Given the description of an element on the screen output the (x, y) to click on. 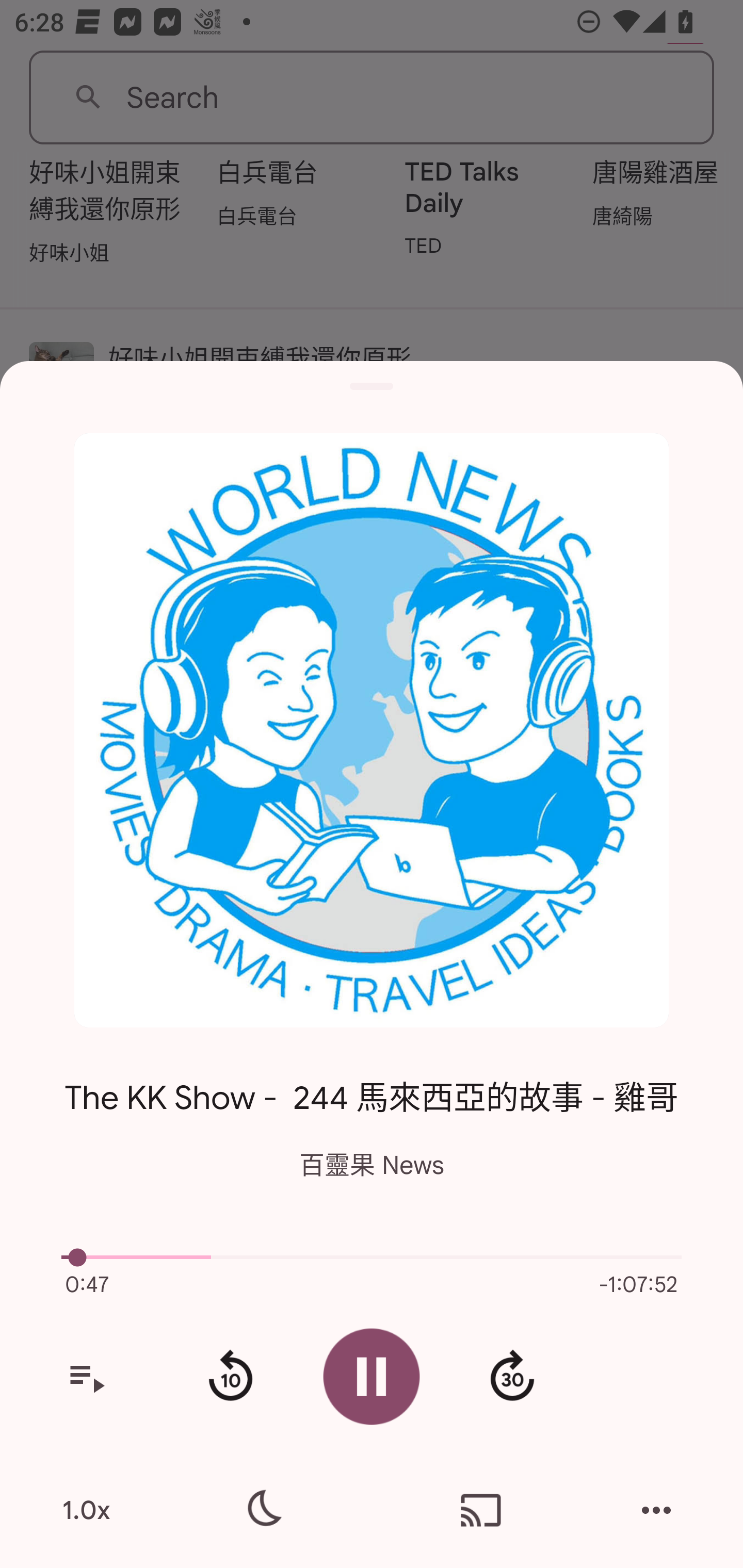
Open the show page for 百靈果 News (371, 729)
The KK Show -  244 馬來西亞的故事 - 雞哥 百靈果 News (371, 1113)
114.0 Current episode playback (371, 1257)
Pause (371, 1376)
View your queue (86, 1376)
Rewind 10 seconds (230, 1376)
Fast forward 30 second (511, 1376)
1.0x Playback speed is 1.0. (86, 1510)
Sleep timer settings (261, 1510)
Cast. Disconnected (480, 1510)
More actions (655, 1510)
